Given the description of an element on the screen output the (x, y) to click on. 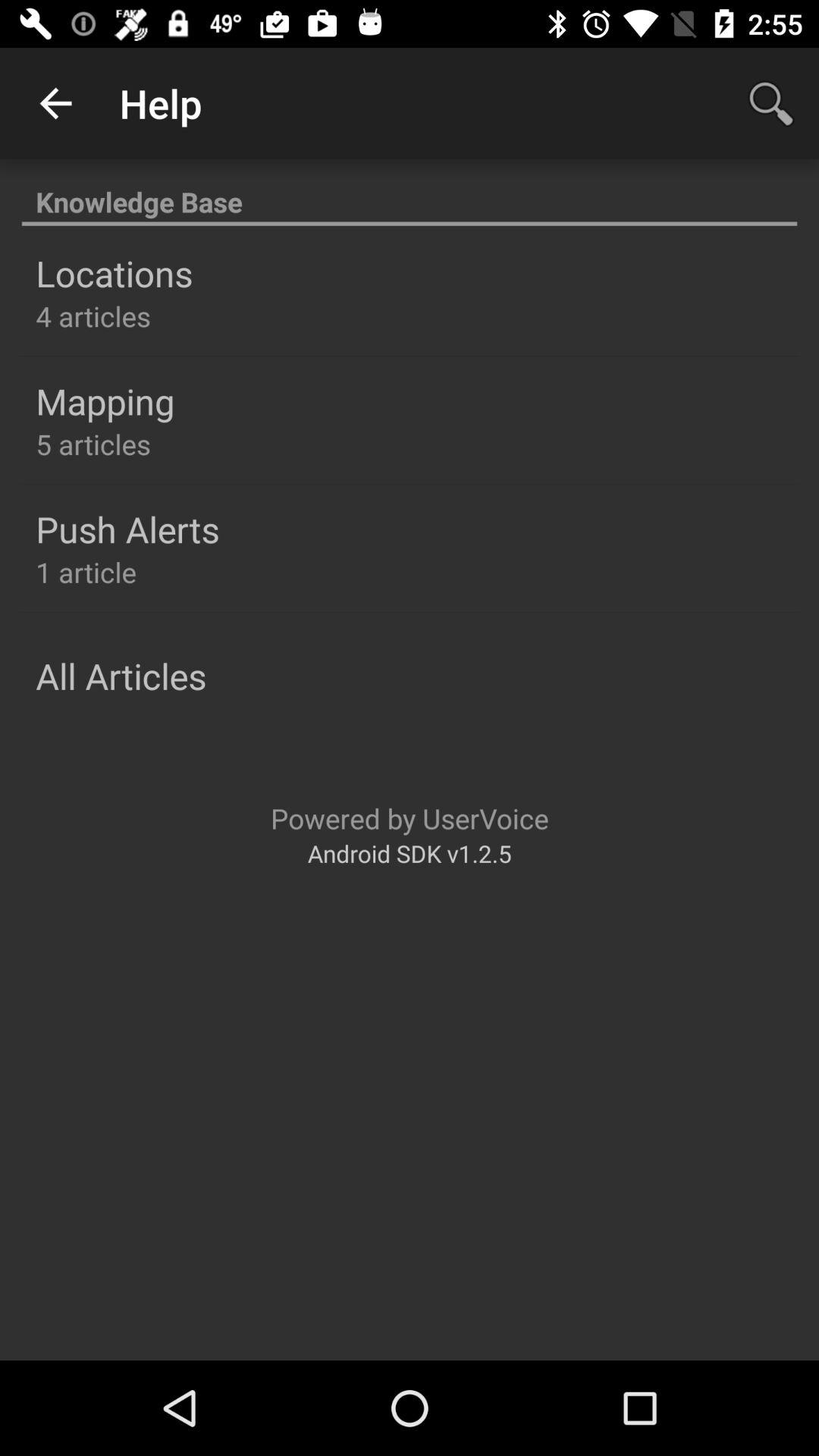
open icon to the left of the help (55, 103)
